Given the description of an element on the screen output the (x, y) to click on. 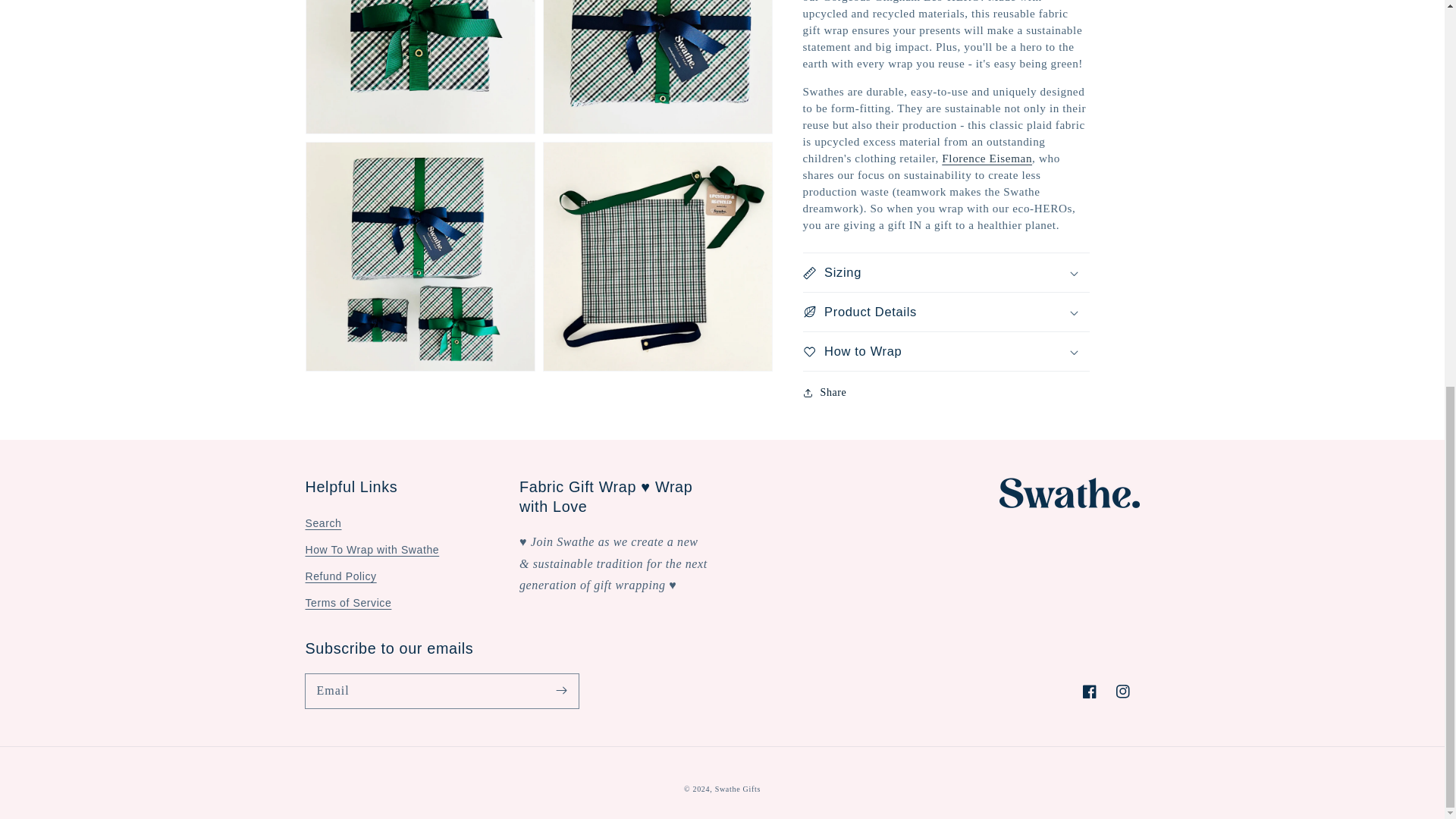
Florence Eiseman Homepage (987, 119)
